Given the description of an element on the screen output the (x, y) to click on. 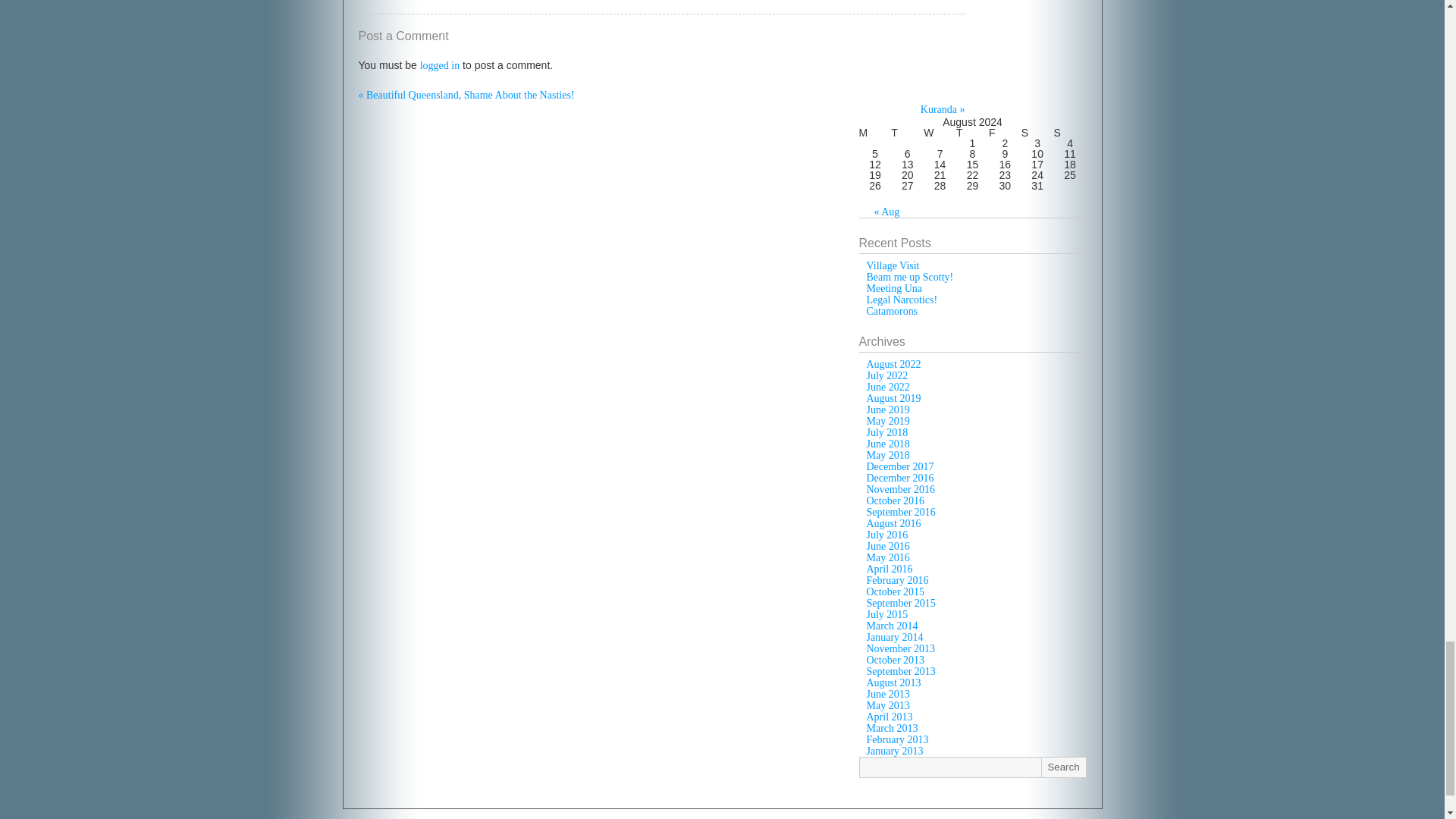
Tuesday (907, 132)
Monday (875, 132)
Village Visit (892, 265)
July 2022 (886, 375)
July 2018 (886, 432)
June 2022 (887, 387)
August 2022 (893, 364)
Meeting Una (893, 288)
Saturday (1038, 132)
Wednesday (939, 132)
